Given the description of an element on the screen output the (x, y) to click on. 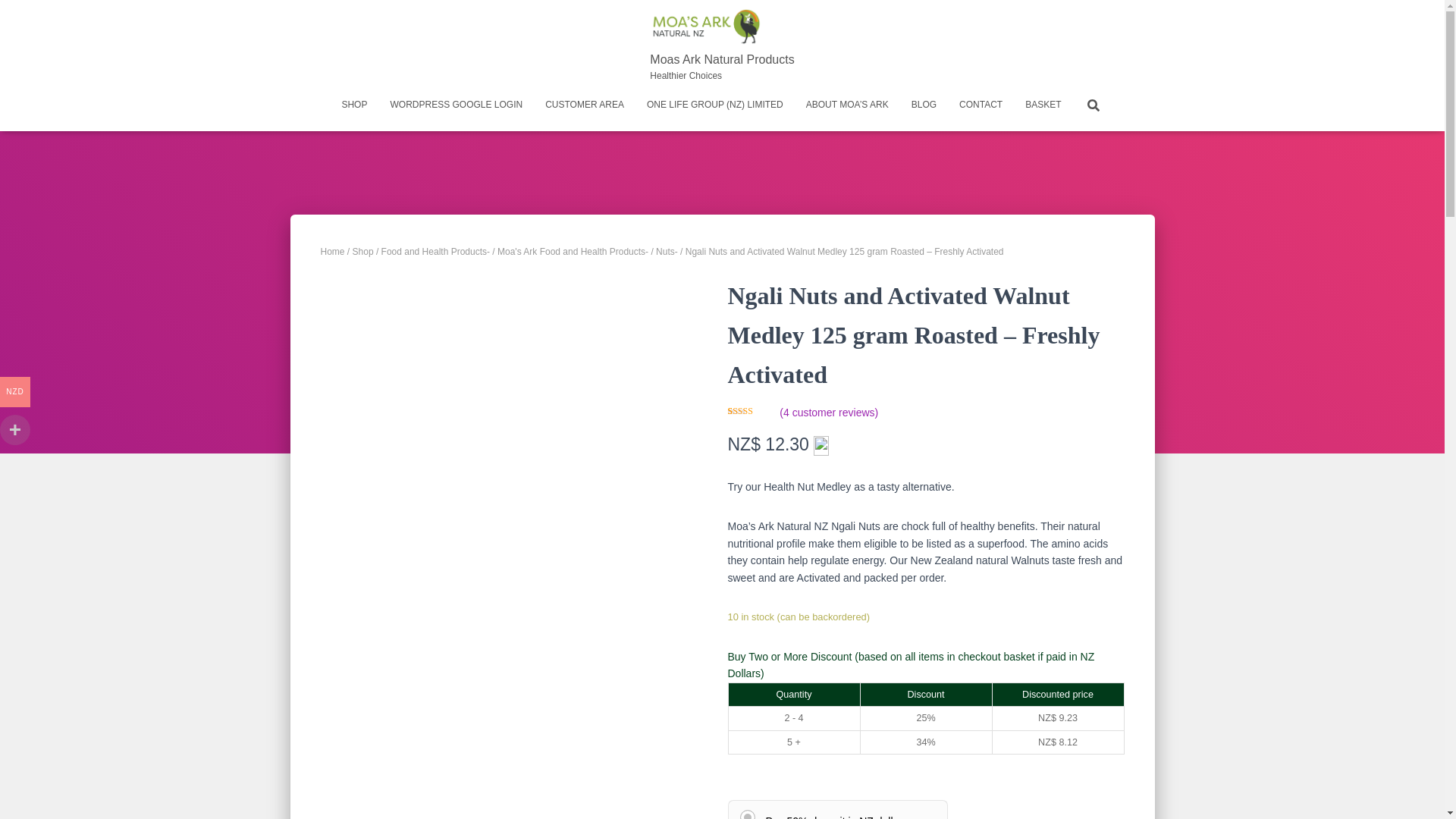
Home (331, 251)
Shop (354, 104)
WordPress Google Login (722, 46)
Contact (456, 104)
Nuts- (980, 104)
CONTACT (667, 251)
Customer Area (980, 104)
WORDPRESS GOOGLE LOGIN (584, 104)
Moa's Ark Food and Health Products- (456, 104)
